Given the description of an element on the screen output the (x, y) to click on. 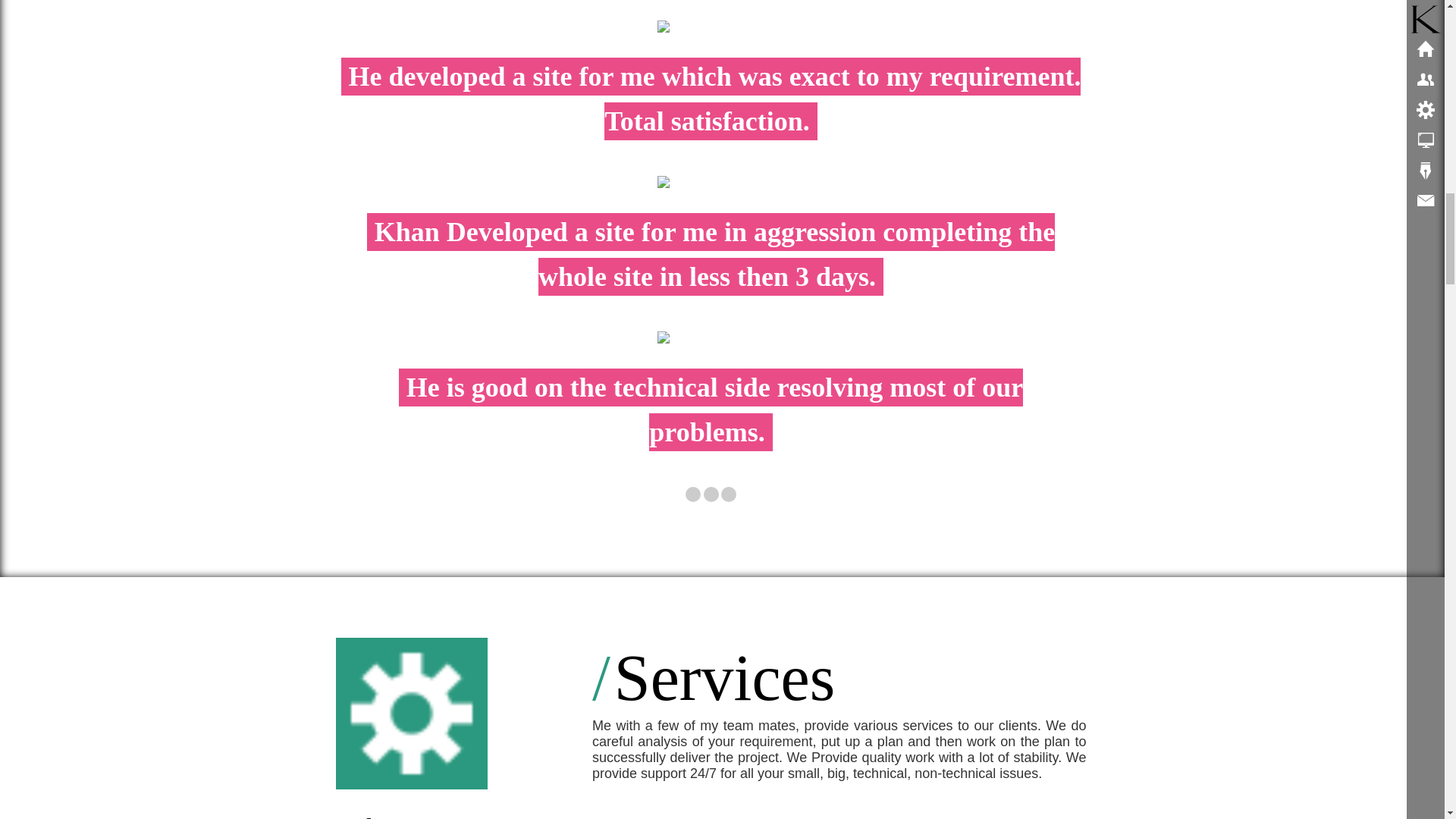
2 (711, 494)
3 (728, 494)
1 (692, 494)
